Given the description of an element on the screen output the (x, y) to click on. 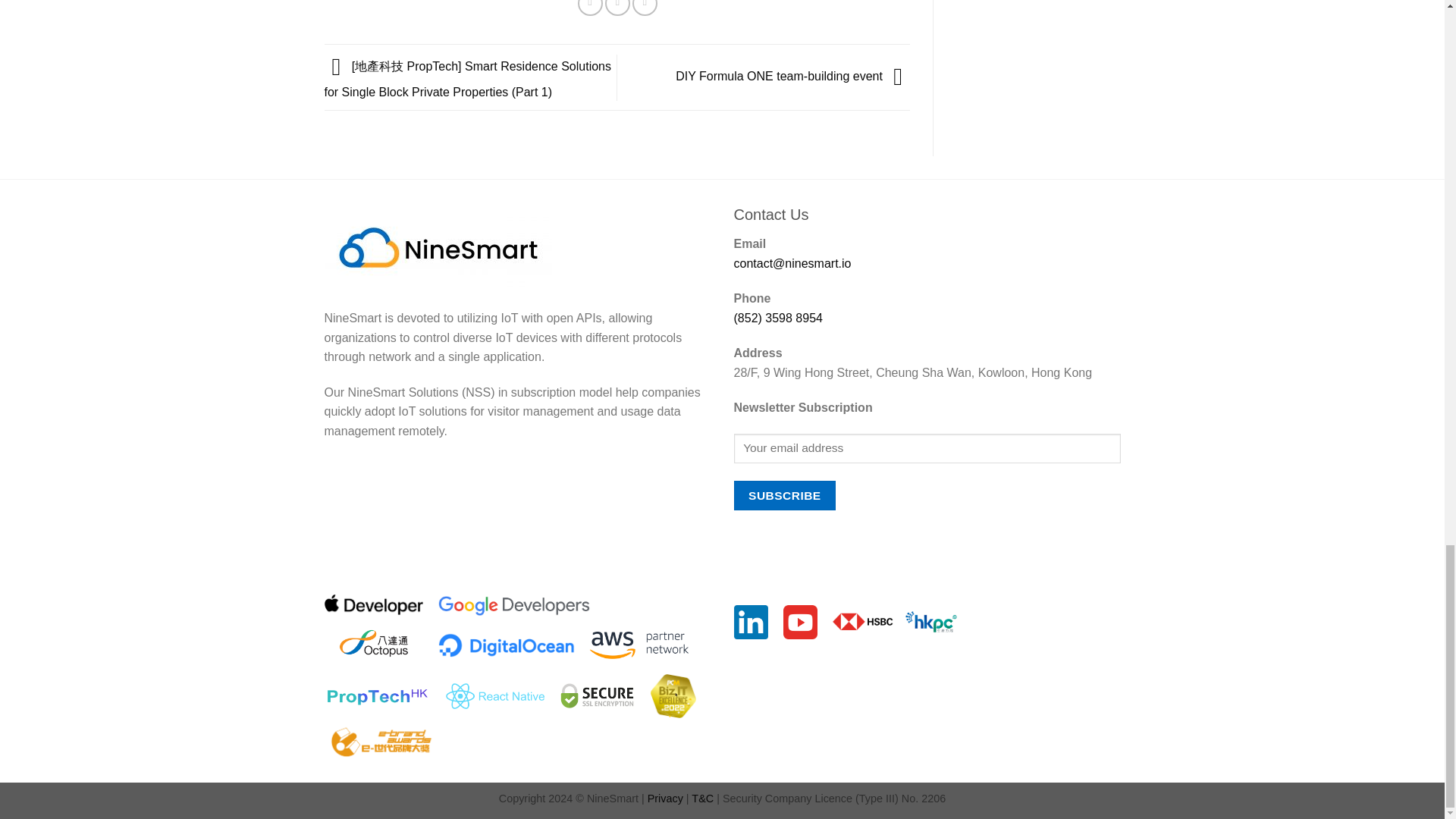
Subscribe (784, 495)
Share on LinkedIn (644, 7)
Email to a Friend (617, 7)
Share on Facebook (590, 7)
